Given the description of an element on the screen output the (x, y) to click on. 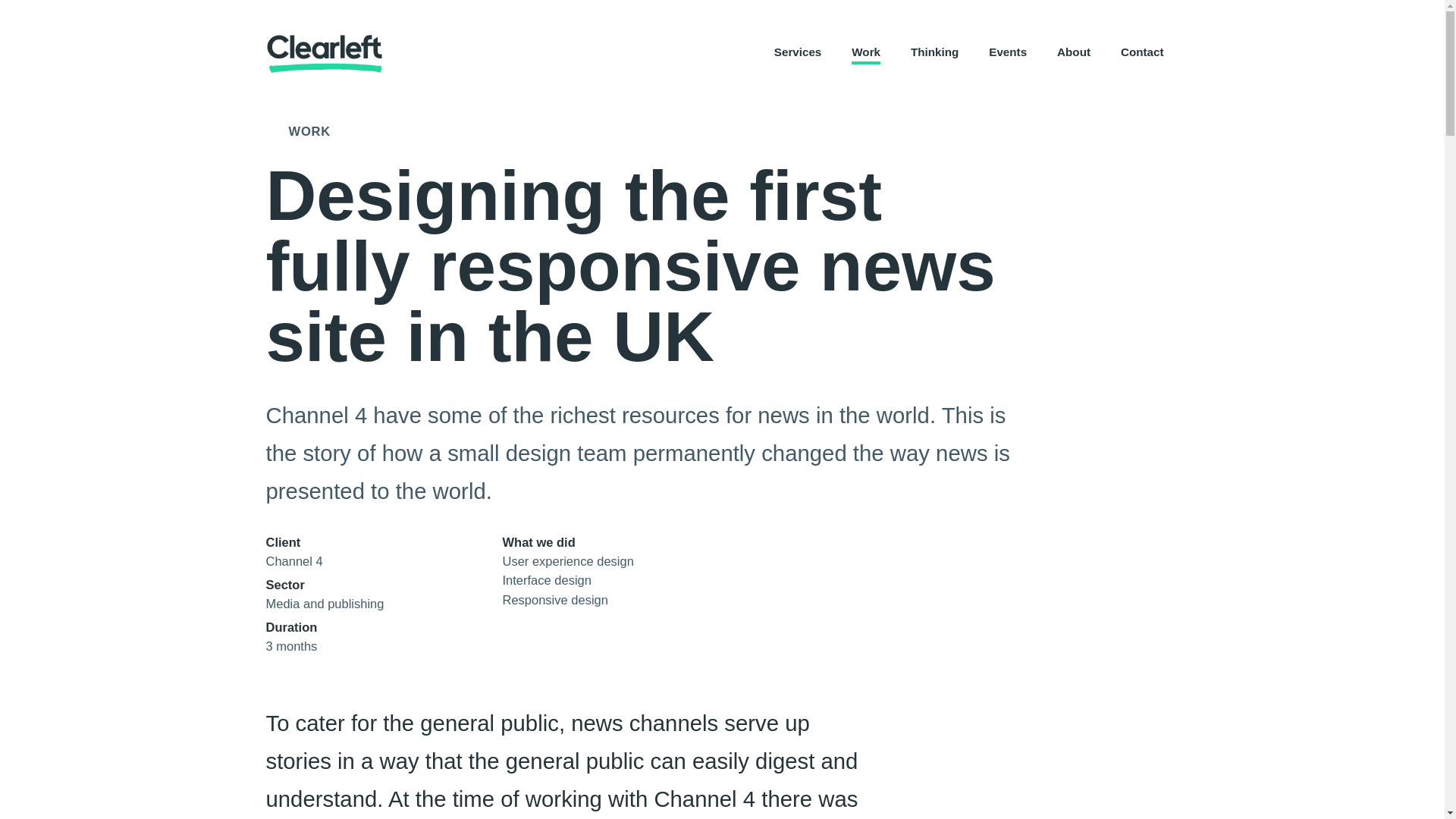
Work (865, 53)
Thinking (934, 53)
Events (1007, 53)
Home (322, 53)
Services (798, 53)
WORK (297, 131)
About (1073, 53)
Contact (1142, 53)
